Given the description of an element on the screen output the (x, y) to click on. 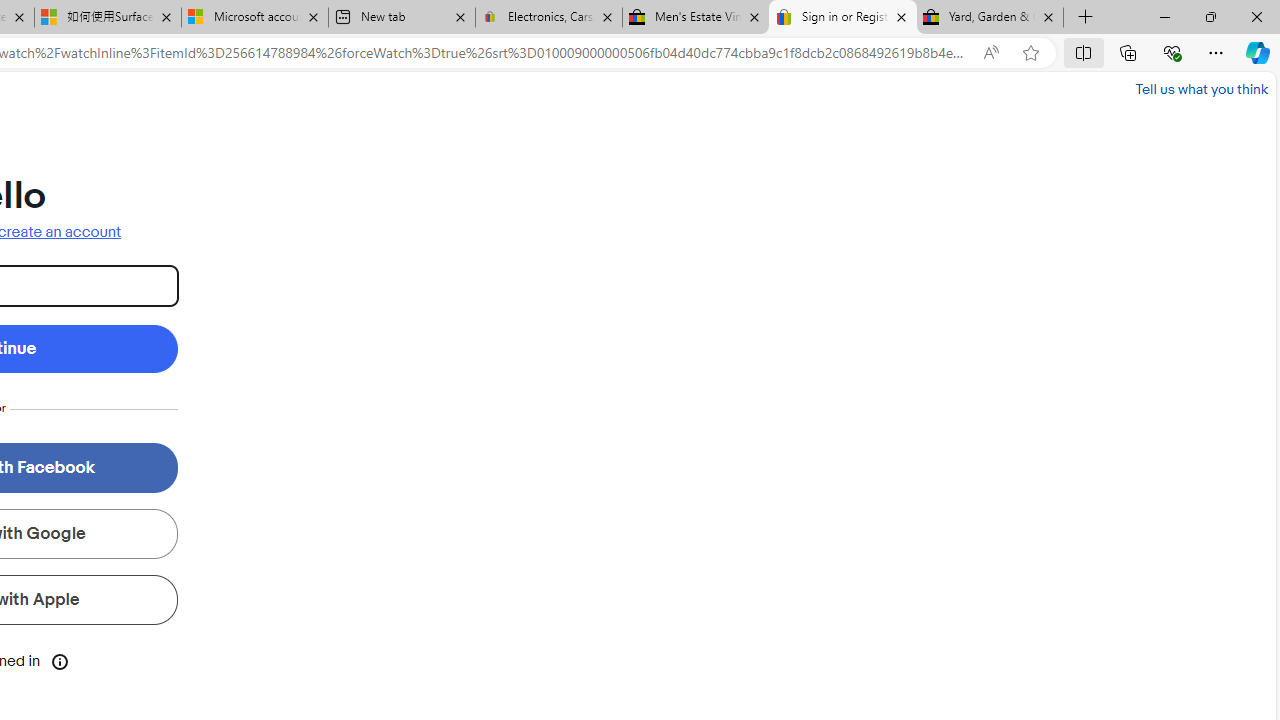
Yard, Garden & Outdoor Living (989, 17)
